Given the description of an element on the screen output the (x, y) to click on. 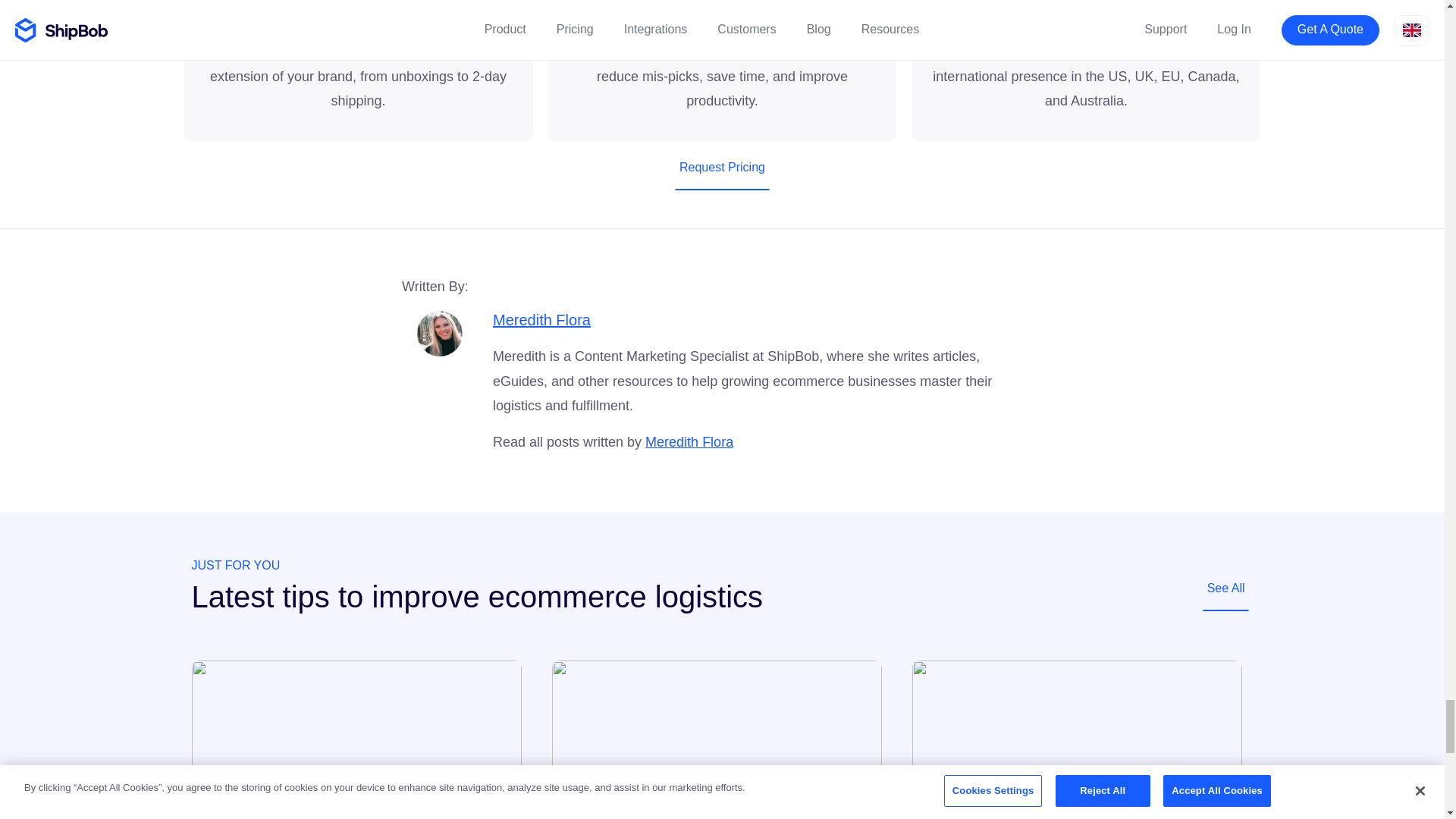
Posts by Meredith Flora (542, 320)
